Given the description of an element on the screen output the (x, y) to click on. 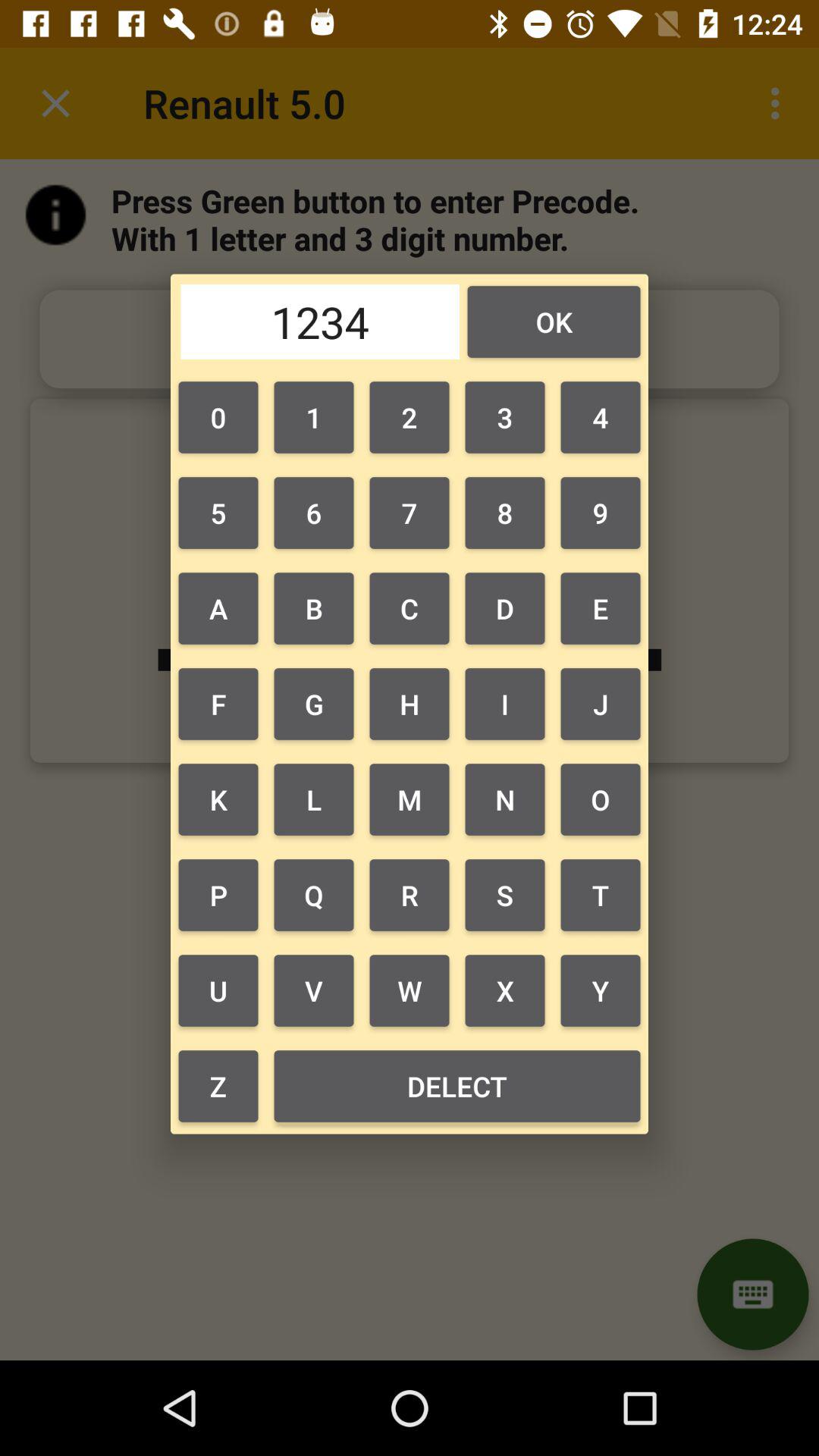
turn off the item next to the p item (313, 990)
